Given the description of an element on the screen output the (x, y) to click on. 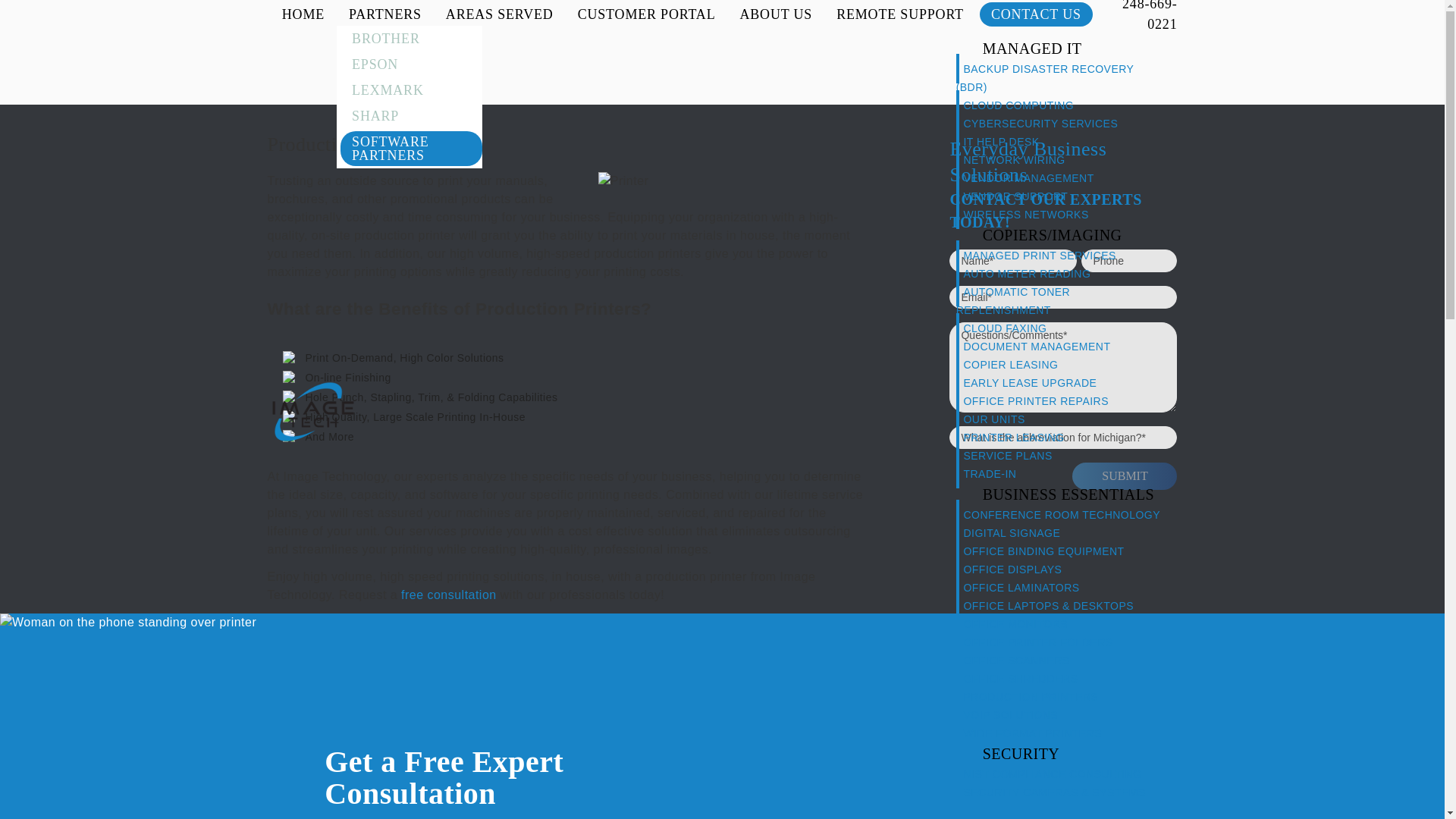
DOCUMENT MANAGEMENT (1040, 346)
SHARP (408, 115)
BUSINESS ESSENTIALS (1068, 494)
TRADE-IN (992, 473)
MANAGED PRINT SERVICES (1042, 255)
PRINTER LEASING (1017, 437)
Home (312, 411)
VENDOR MANAGEMENT (1032, 177)
CLOUD FAXING (1007, 327)
AUTOMATIC TONER REPLENISHMENT (1013, 300)
OFFICE PRINTER REPAIRS (1039, 400)
CONTACT US (1036, 14)
NETWORK WIRING (1017, 159)
EPSON (408, 64)
Submit (1123, 475)
